Given the description of an element on the screen output the (x, y) to click on. 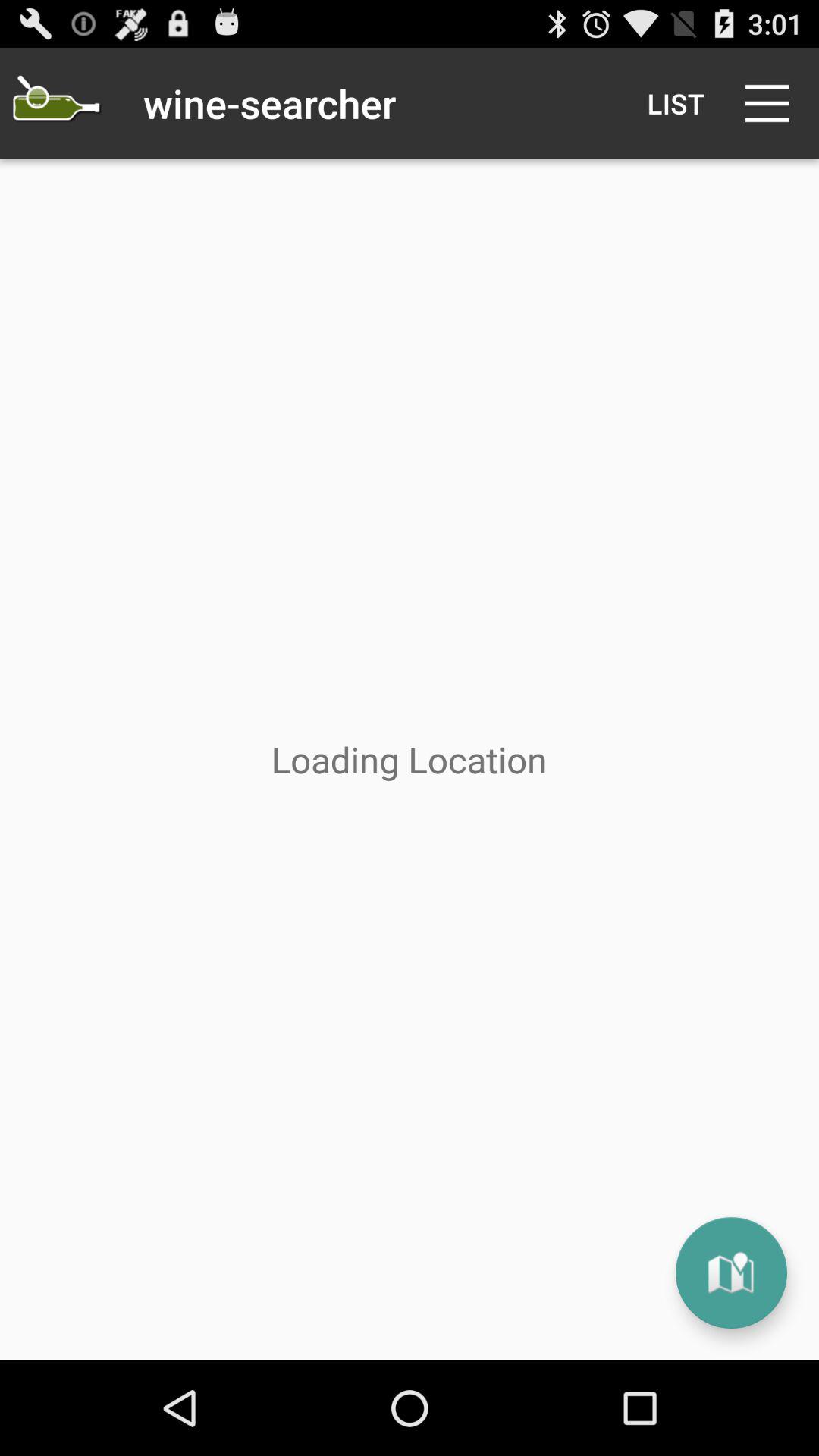
turn off item at the bottom right corner (731, 1272)
